Given the description of an element on the screen output the (x, y) to click on. 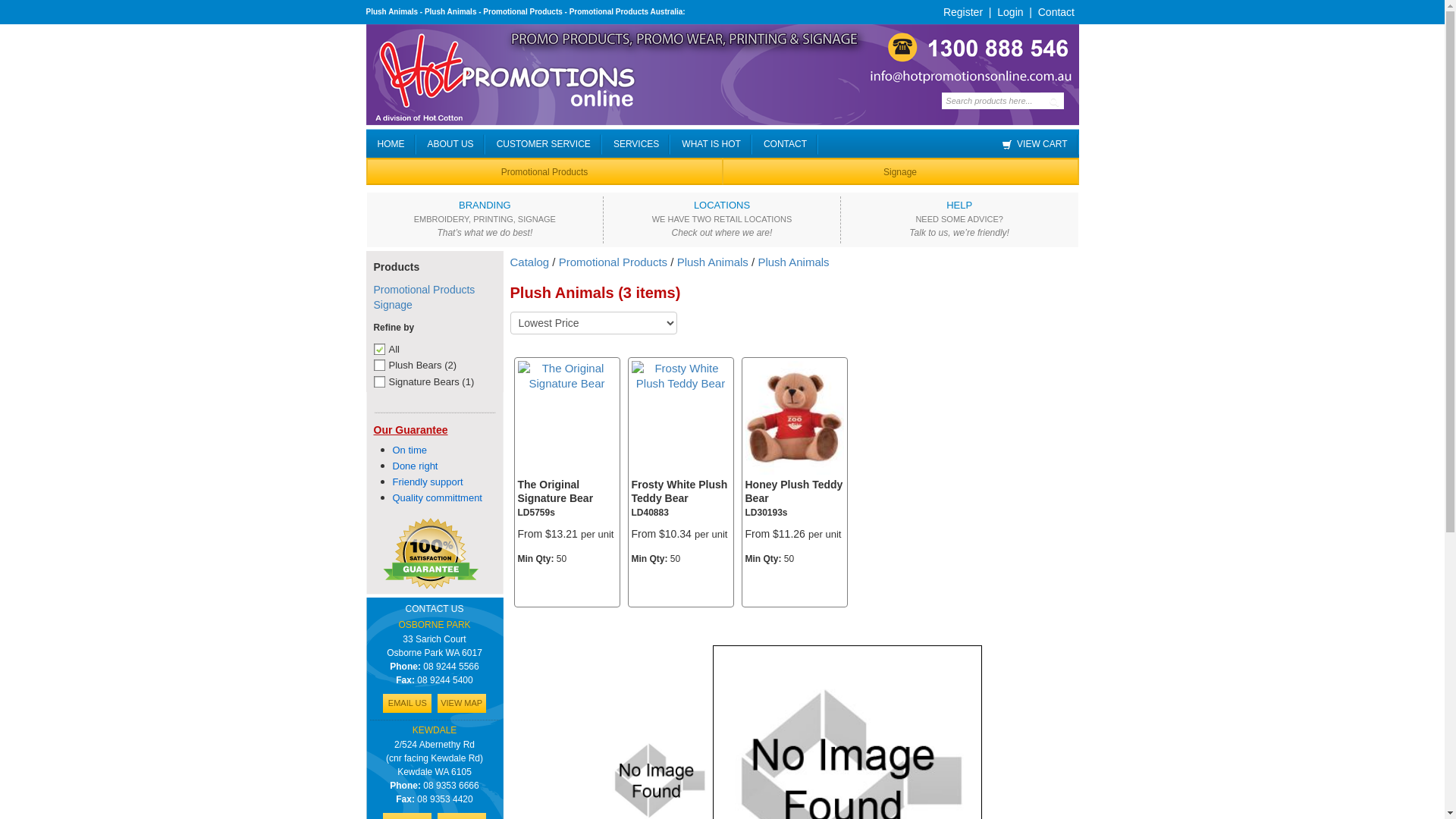
HOME Element type: text (396, 144)
Signage Element type: text (900, 172)
Catalog Element type: text (529, 261)
Search Element type: text (26, 11)
Plush Animals Element type: text (712, 261)
Honey Plush Teddy Bear Element type: text (793, 491)
Login Element type: text (1009, 12)
Promotional Products Element type: text (612, 261)
Promotional Products Element type: text (544, 172)
The Original Signature Bear Element type: text (555, 491)
CONTACT Element type: text (790, 144)
The Original Signature Bear Element type: hover (566, 375)
VIEW CART Element type: text (1039, 144)
Signage Element type: text (392, 304)
Plush Animals Element type: text (792, 261)
Promotional Products Element type: text (423, 289)
ABOUT US Element type: text (456, 144)
Hot Promotions Element type: hover (721, 74)
Frosty White Plush Teddy Bear Element type: hover (679, 374)
Frosty White Plush Teddy Bear Element type: text (678, 491)
The Original Signature Bear Element type: hover (566, 374)
EMAIL US Element type: text (406, 702)
Frosty White Plush Teddy Bear Element type: hover (679, 375)
Search Element type: hover (1053, 100)
Honey Plush Teddy Bear Element type: hover (793, 417)
Honey Plush Teddy Bear Element type: hover (793, 417)
VIEW MAP Element type: text (461, 702)
Register Element type: text (962, 12)
Contact Element type: text (1056, 12)
